Given the description of an element on the screen output the (x, y) to click on. 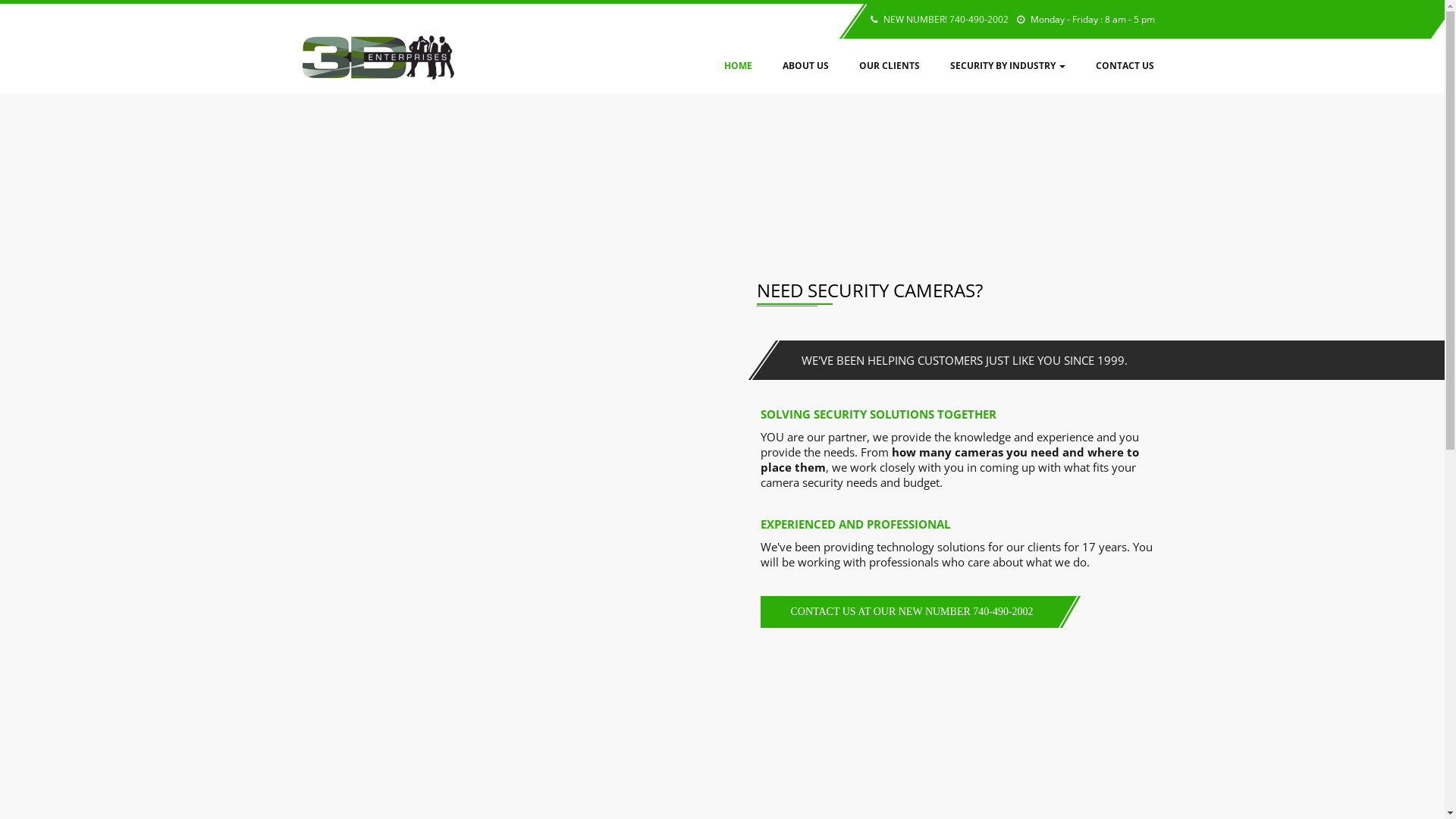
SECURITY BY INDUSTRY Element type: text (1006, 65)
OUR CLIENTS Element type: text (888, 65)
CONTACT US AT OUR NEW NUMBER 740-490-2002 Element type: text (907, 611)
CONTACT US Element type: text (1116, 65)
ABOUT US Element type: text (805, 65)
HOME Element type: text (744, 65)
